Given the description of an element on the screen output the (x, y) to click on. 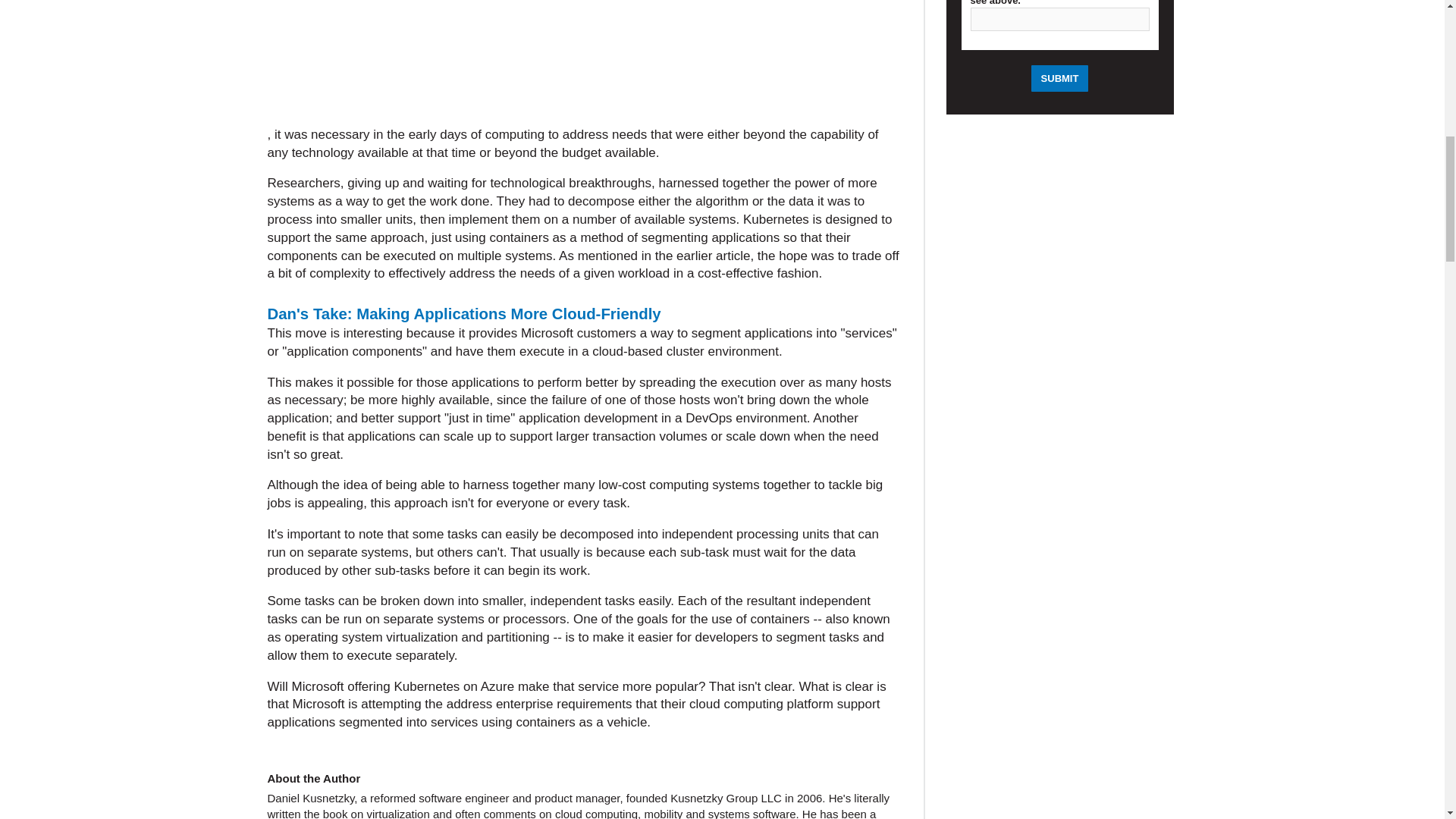
3rd party ad content (1059, 732)
Submit (1059, 78)
3rd party ad content (583, 63)
